Given the description of an element on the screen output the (x, y) to click on. 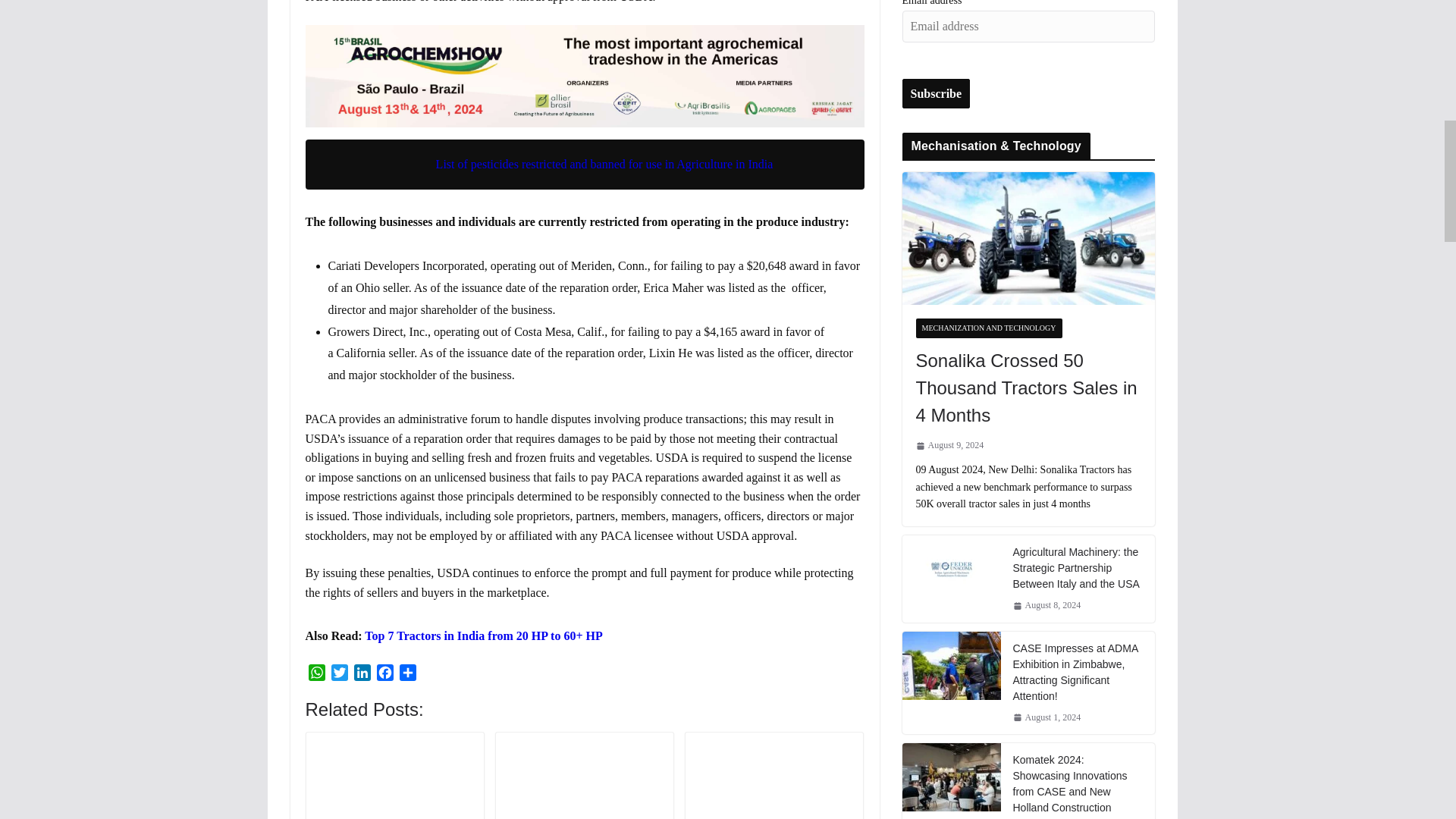
Subscribe (936, 93)
LinkedIn (361, 674)
Facebook (384, 674)
Twitter (338, 674)
WhatsApp (315, 674)
